Given the description of an element on the screen output the (x, y) to click on. 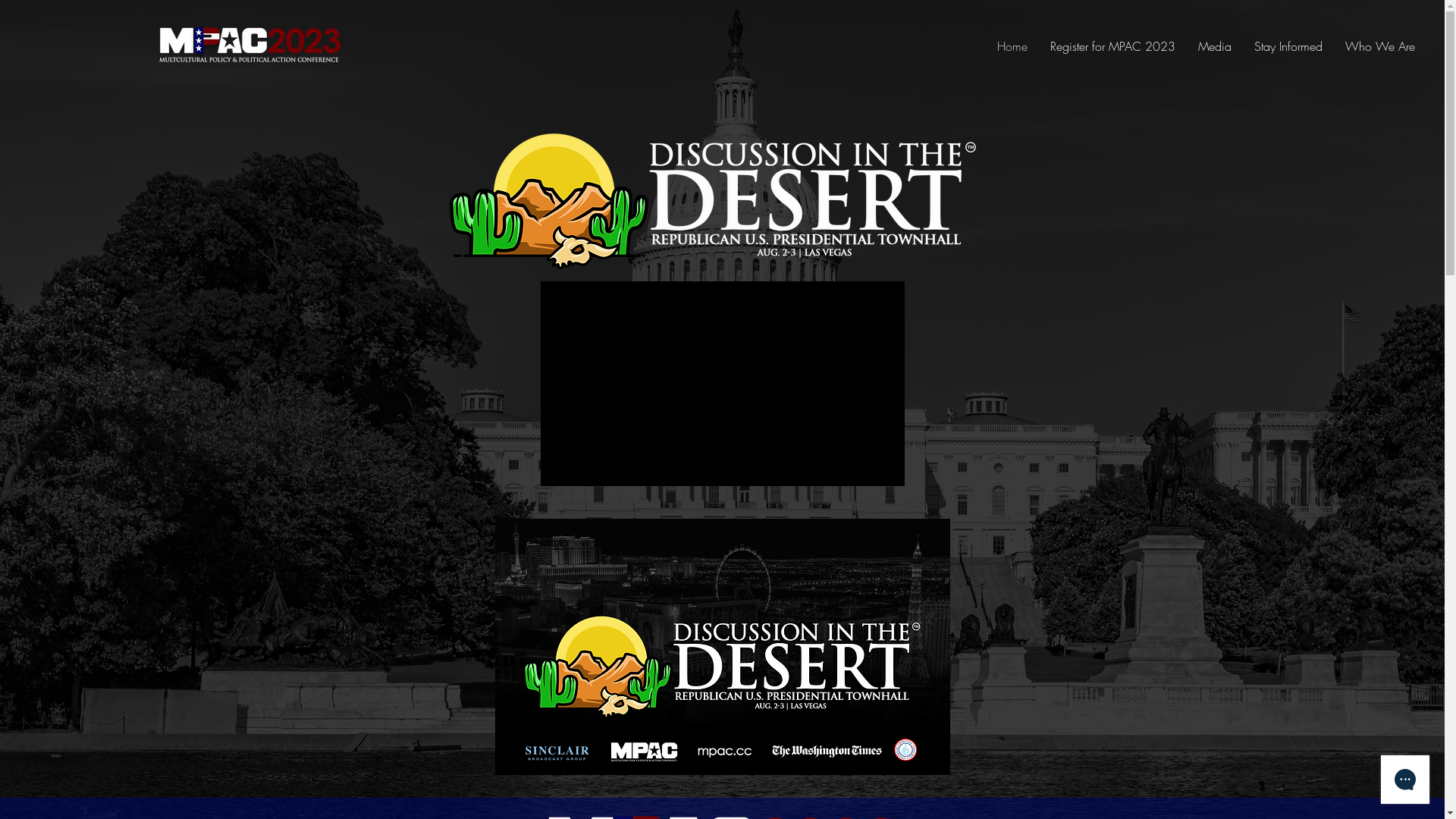
Stay Informed Element type: text (1287, 46)
Home Element type: text (1011, 46)
Media Element type: text (1214, 46)
Register for MPAC 2023 Element type: text (1112, 46)
Who We Are Element type: text (1379, 46)
